Given the description of an element on the screen output the (x, y) to click on. 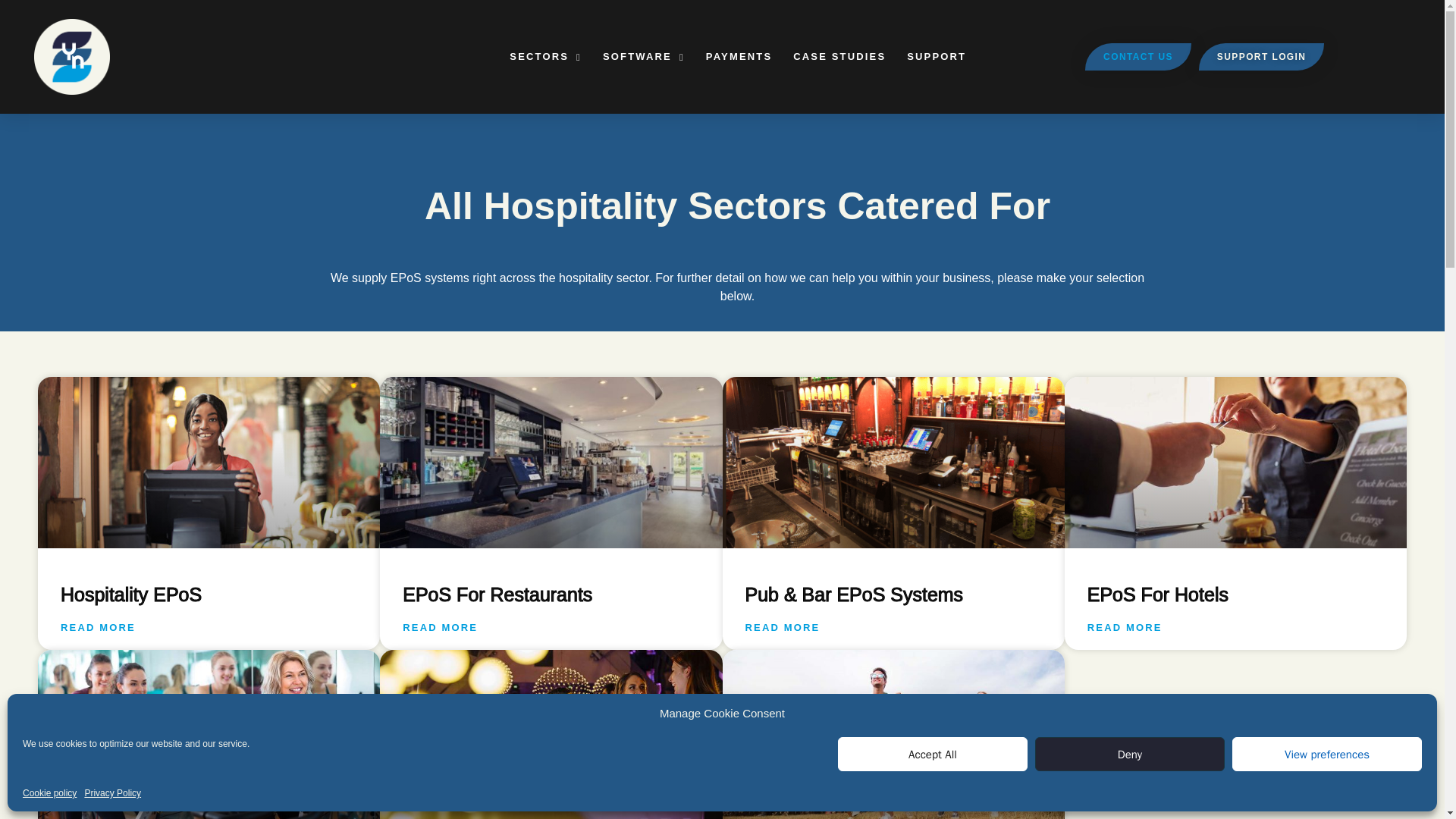
SOFTWARE (643, 57)
Accept All (932, 754)
View preferences (1326, 754)
SECTORS (545, 57)
Privacy Policy (112, 793)
Cookie policy (50, 793)
Deny (1129, 754)
